Given the description of an element on the screen output the (x, y) to click on. 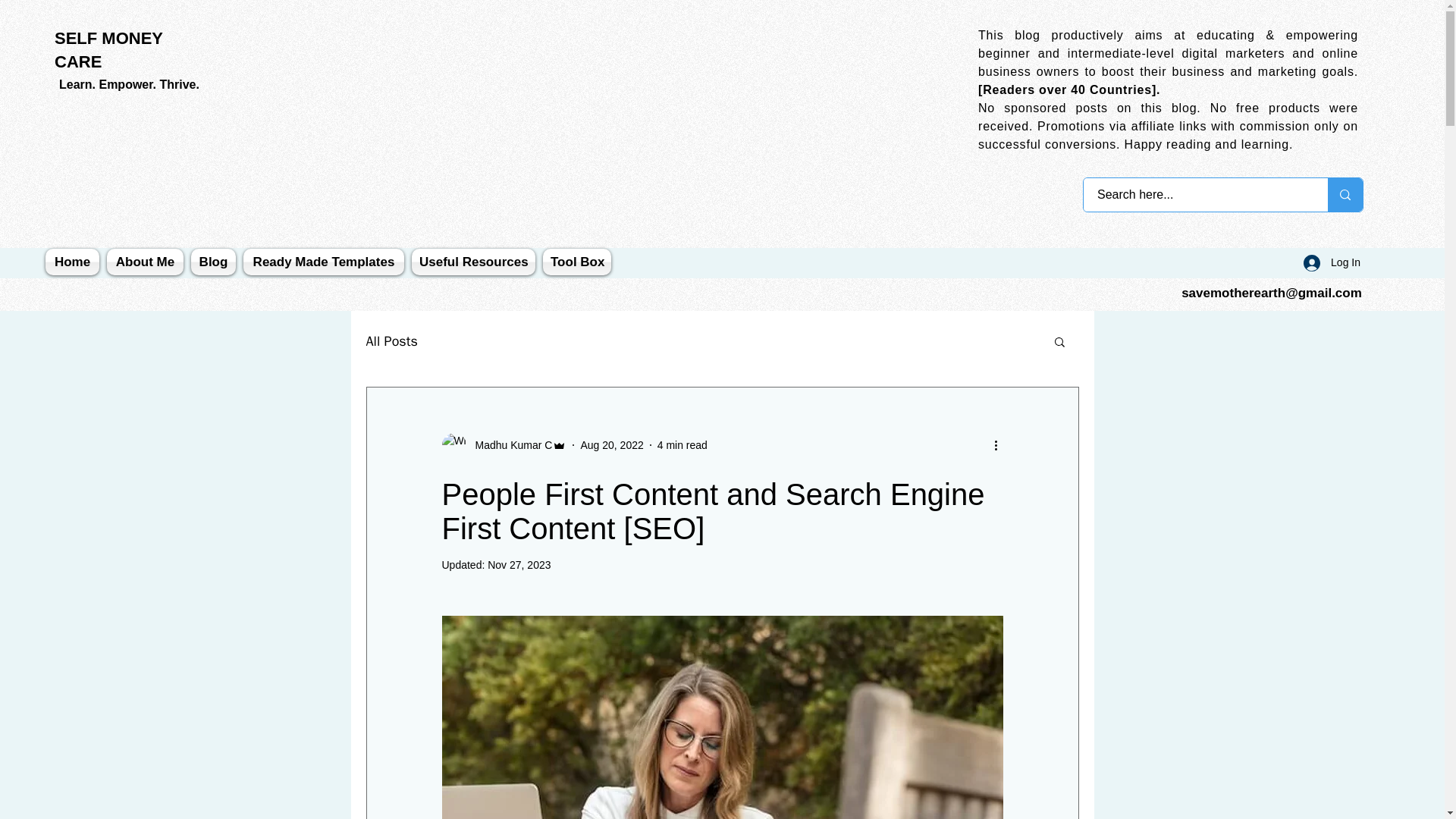
Home (74, 261)
Useful Resources (472, 261)
Blog (213, 261)
All Posts (390, 341)
About Me (145, 261)
Madhu Kumar C (503, 445)
Aug 20, 2022 (611, 444)
Nov 27, 2023 (518, 564)
Madhu Kumar C (508, 445)
SELF MONEY CARE (109, 49)
4 min read (682, 444)
Ready Made Templates (323, 261)
Tool Box (574, 261)
Log In (1331, 262)
